Given the description of an element on the screen output the (x, y) to click on. 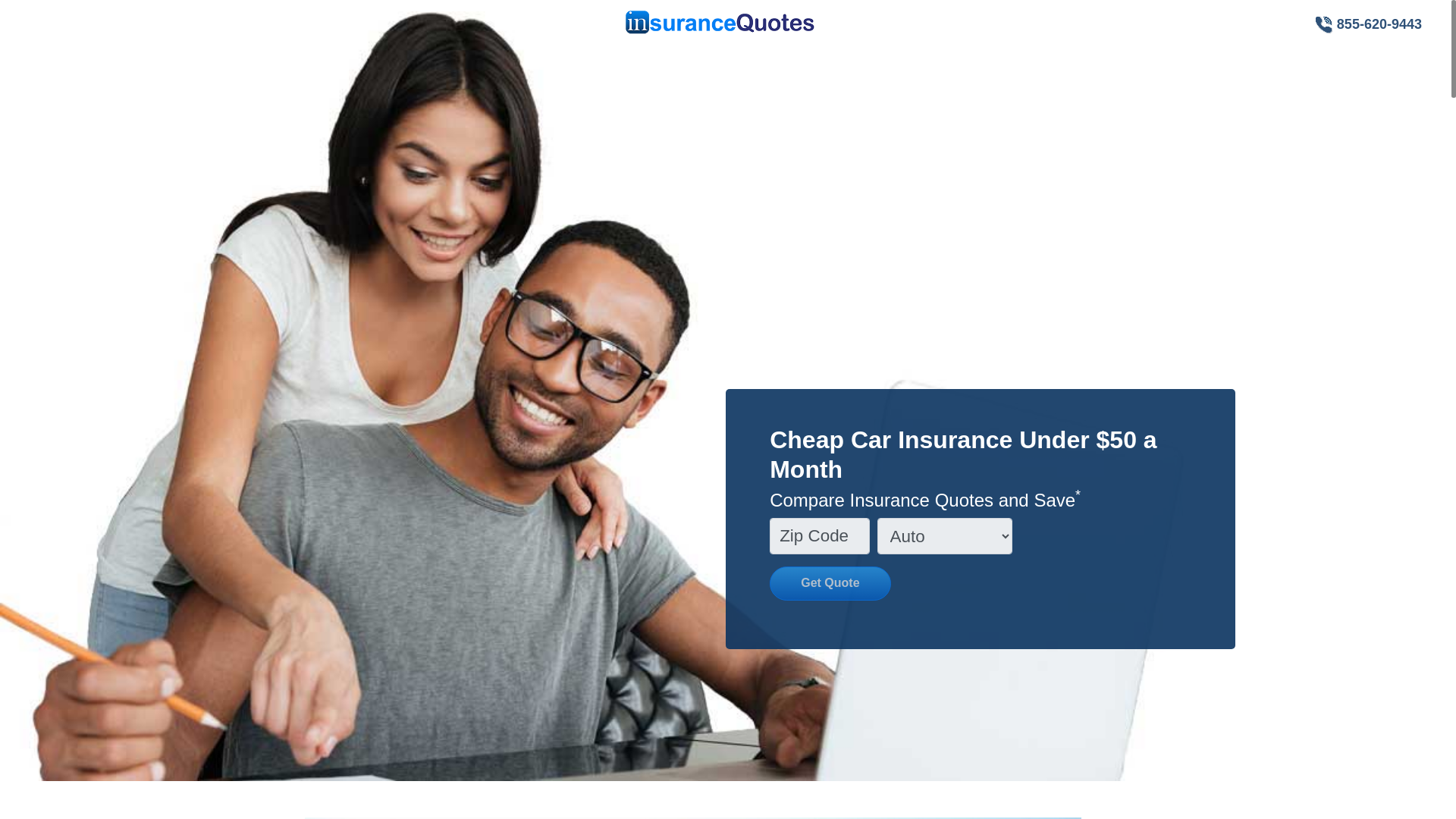
855-620-9443 (1368, 24)
Get Quote (829, 583)
Zip Code (819, 535)
